Given the description of an element on the screen output the (x, y) to click on. 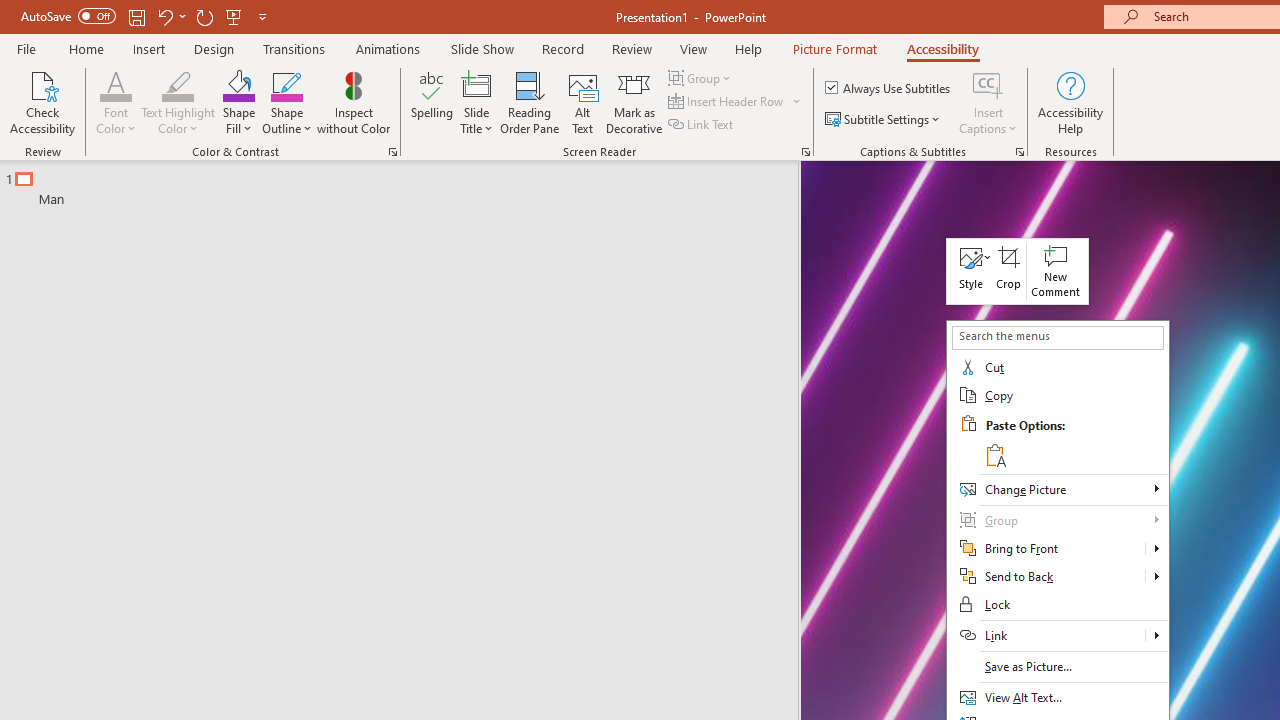
Send to Back (1046, 577)
View Alt Text... (1057, 698)
Lock (1057, 605)
Inspect without Color (353, 102)
Always Use Subtitles (889, 87)
Bring to Front (1156, 548)
Class: NetUIAnchor (970, 270)
